Given the description of an element on the screen output the (x, y) to click on. 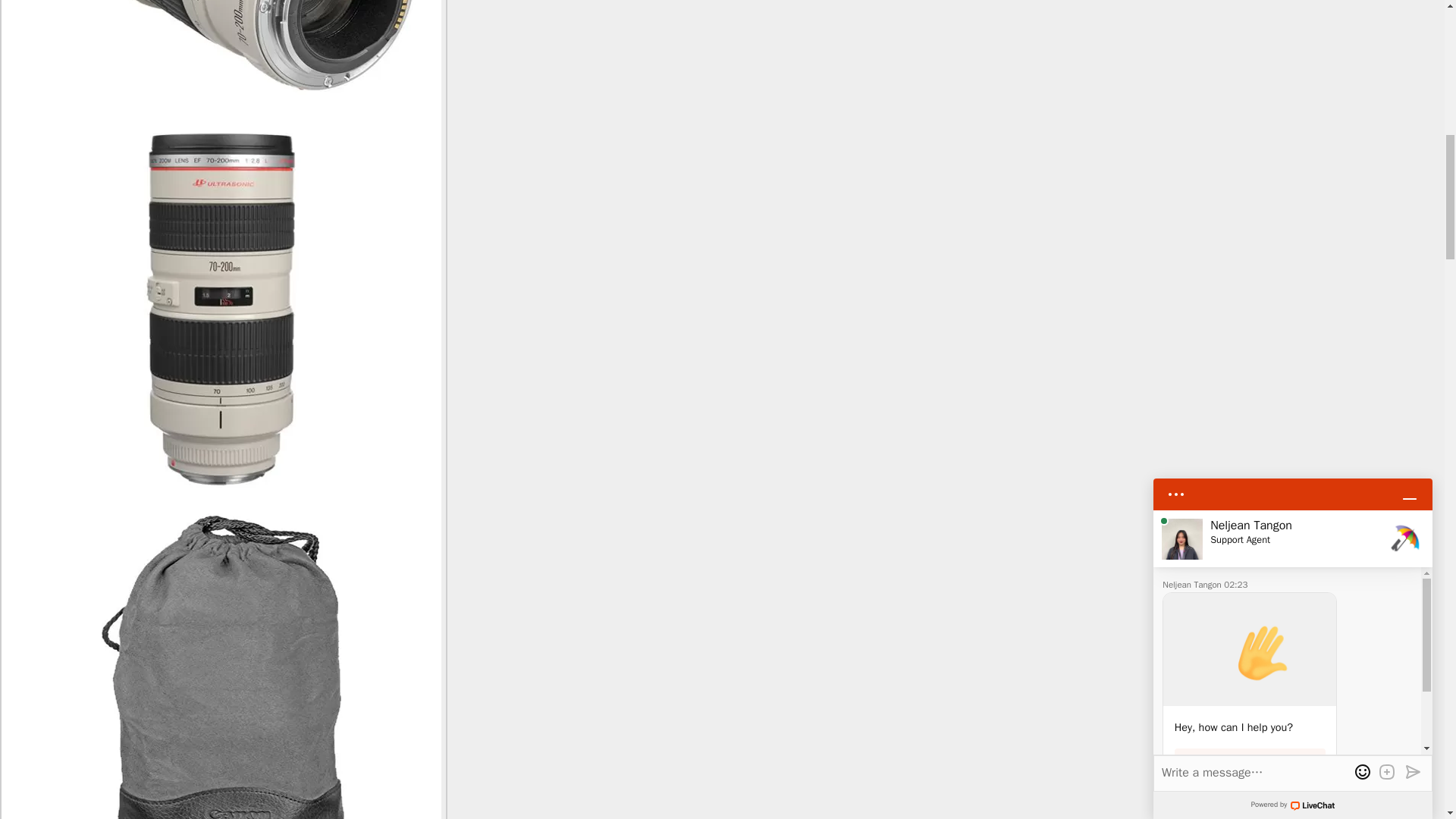
presepective 2 (221, 61)
